Given the description of an element on the screen output the (x, y) to click on. 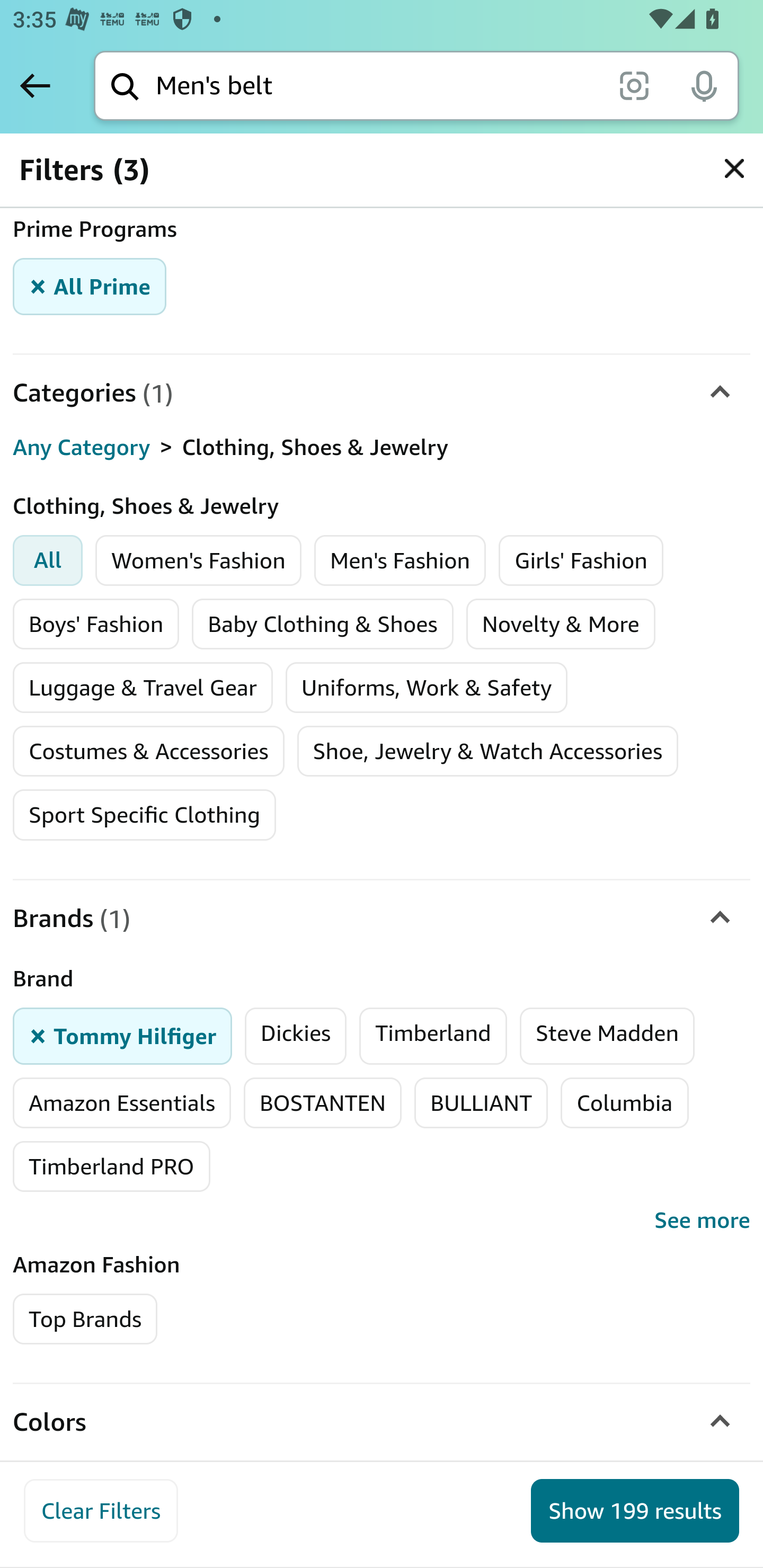
Back (35, 85)
scan it (633, 85)
Free Shipping by Amazon (157, 162)
× All Prime × All Prime (89, 286)
Categories (1) (381, 393)
Any Category (81, 447)
Women's Fashion (198, 560)
Men's Fashion (399, 560)
Girls' Fashion (580, 560)
Boys' Fashion (95, 623)
Baby Clothing & Shoes (322, 623)
Novelty & More (560, 623)
Luggage & Travel Gear (142, 687)
Uniforms, Work & Safety (426, 687)
Costumes & Accessories (148, 750)
Shoe, Jewelry & Watch Accessories (487, 750)
Sport Specific Clothing (144, 814)
Brands (1) (381, 917)
× Tommy Hilfiger × Tommy Hilfiger (122, 1035)
Dickies (295, 1035)
Timberland (433, 1035)
Steve Madden (606, 1035)
Amazon Essentials (121, 1101)
BOSTANTEN (322, 1101)
BULLIANT (480, 1101)
Columbia (624, 1101)
Timberland PRO (111, 1166)
See more, Brand See more (381, 1221)
Top Brands (85, 1319)
Colors (381, 1422)
Clear Filters (100, 1510)
Show 199 results (635, 1510)
